Given the description of an element on the screen output the (x, y) to click on. 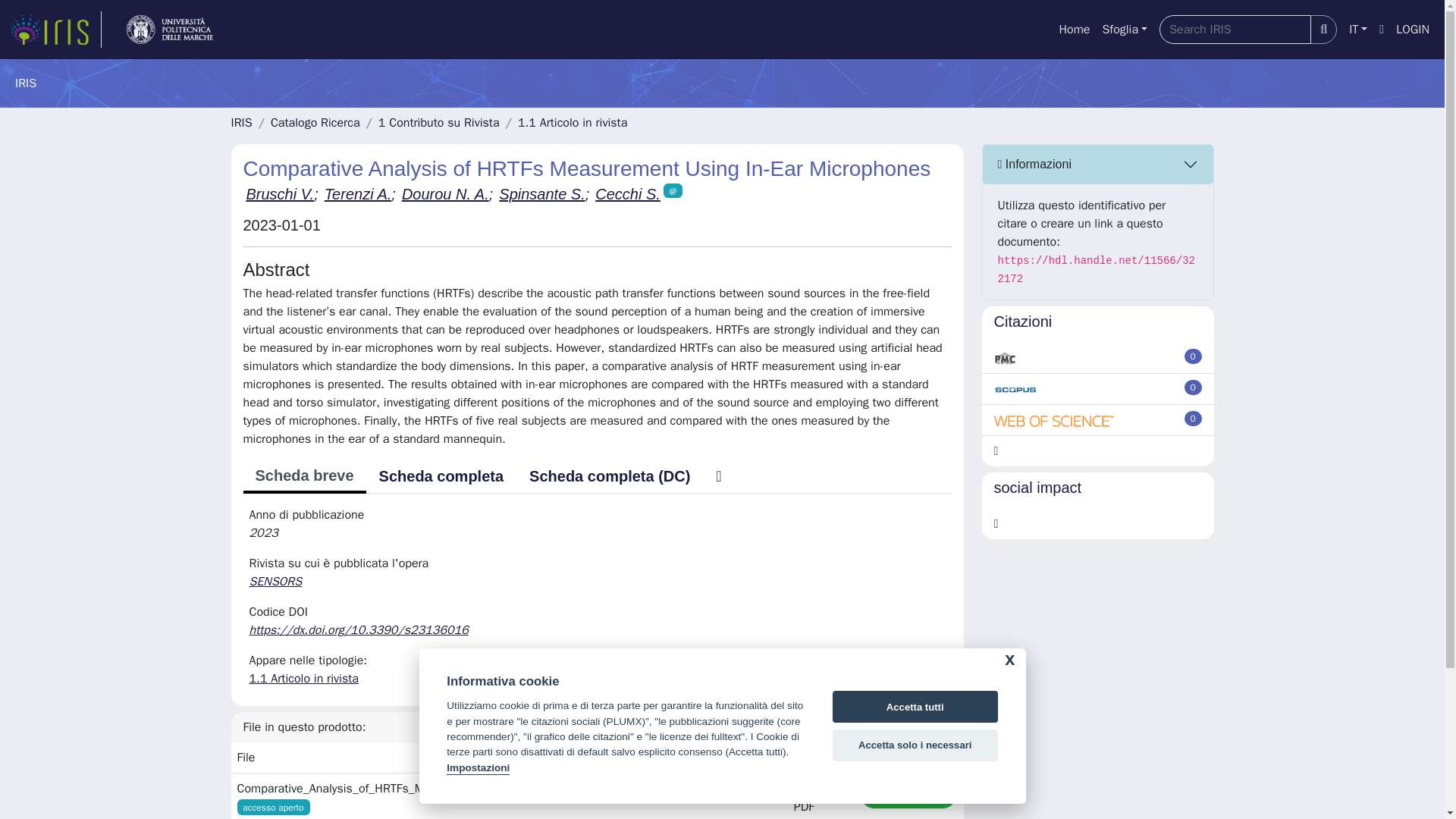
Sfoglia (1124, 29)
aggiornato in data 17-05-2024 10:11 (1193, 355)
Scheda breve (304, 476)
SENSORS (276, 581)
Corresponding author (672, 190)
Bruschi V. (280, 193)
Scheda completa (441, 476)
 Informazioni (1097, 164)
1.1 Articolo in rivista (303, 678)
1 Contributo su Rivista (438, 122)
